Given the description of an element on the screen output the (x, y) to click on. 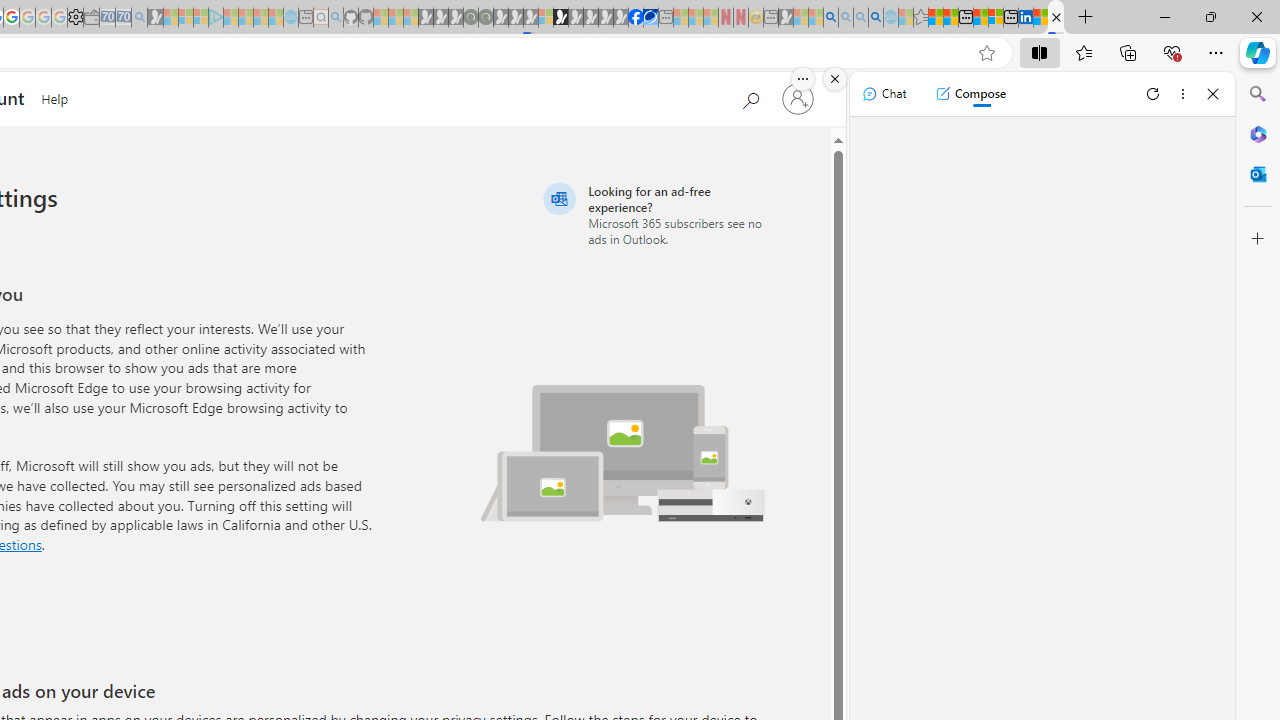
Wallet - Sleeping (91, 17)
Aberdeen, Hong Kong SAR weather forecast | Microsoft Weather (950, 17)
Illustration of multiple devices (623, 452)
github - Search - Sleeping (336, 17)
Close split screen. (835, 79)
LinkedIn (1025, 17)
